Given the description of an element on the screen output the (x, y) to click on. 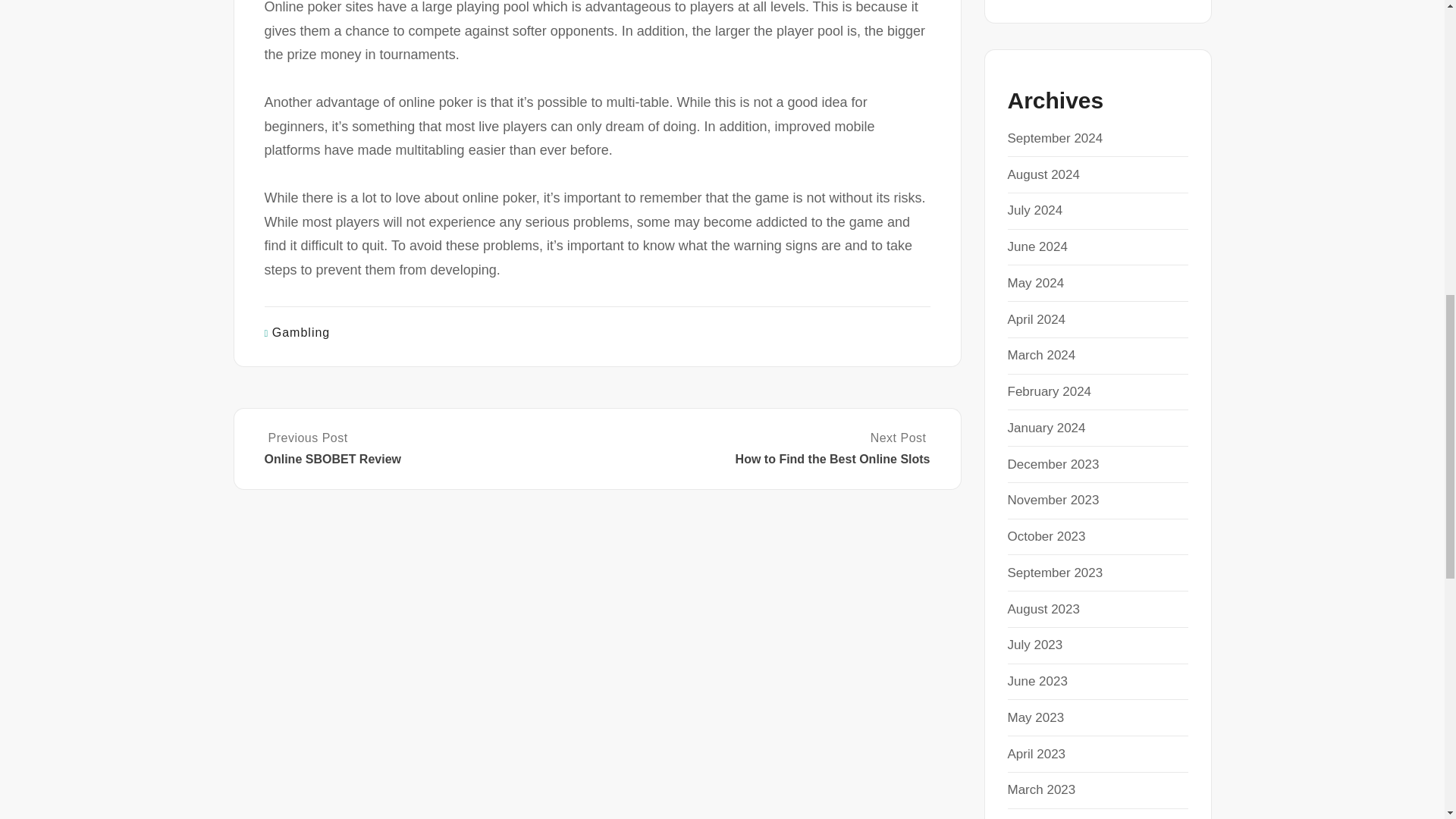
July 2024 (1034, 210)
April 2023 (1036, 753)
January 2024 (1045, 427)
July 2023 (1034, 644)
September 2024 (1054, 138)
November 2023 (1053, 499)
September 2023 (1054, 572)
December 2023 (1053, 464)
